Given the description of an element on the screen output the (x, y) to click on. 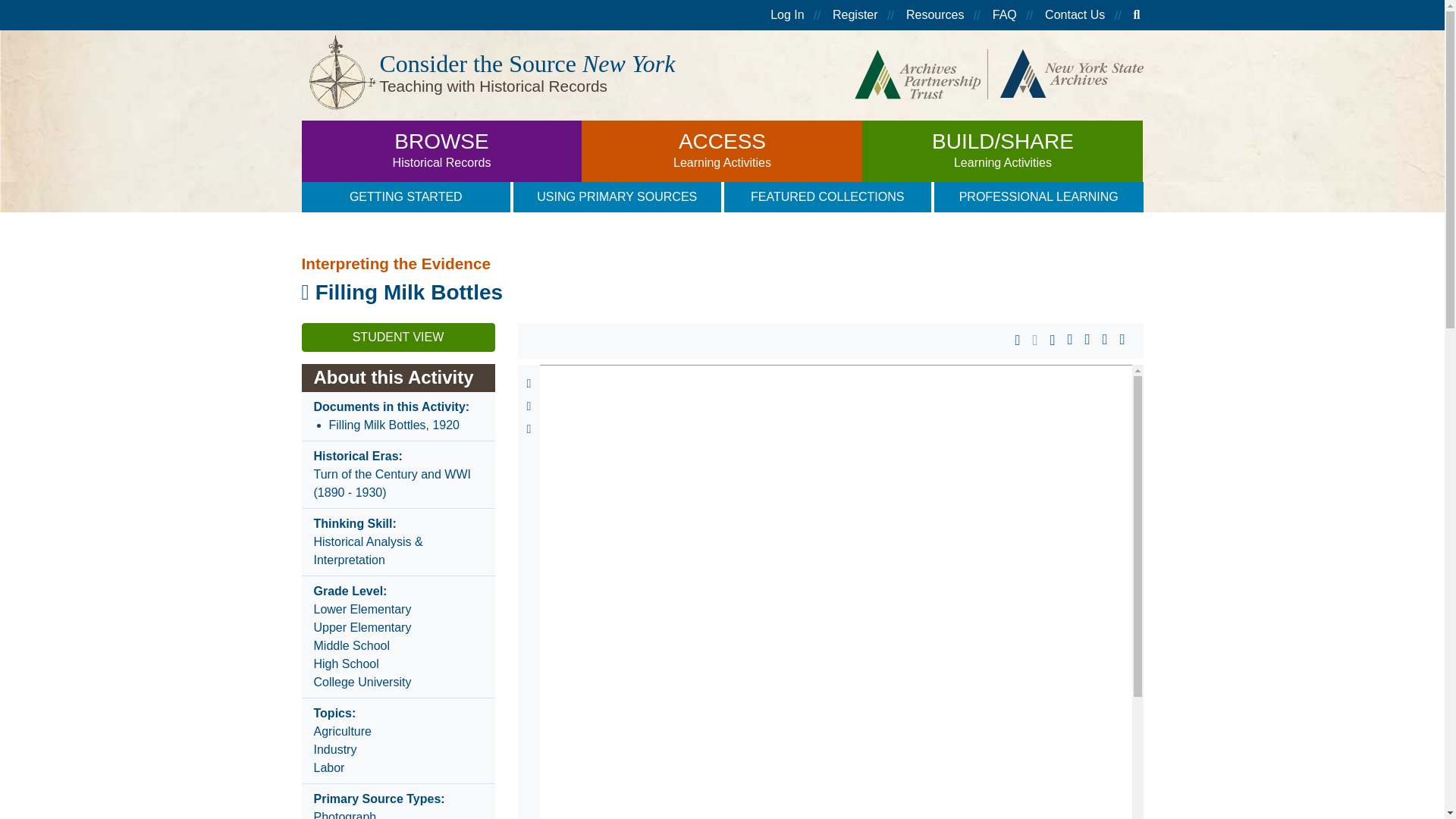
Log In (441, 150)
Contact Us (786, 15)
Register (1075, 15)
Resources (854, 15)
